Given the description of an element on the screen output the (x, y) to click on. 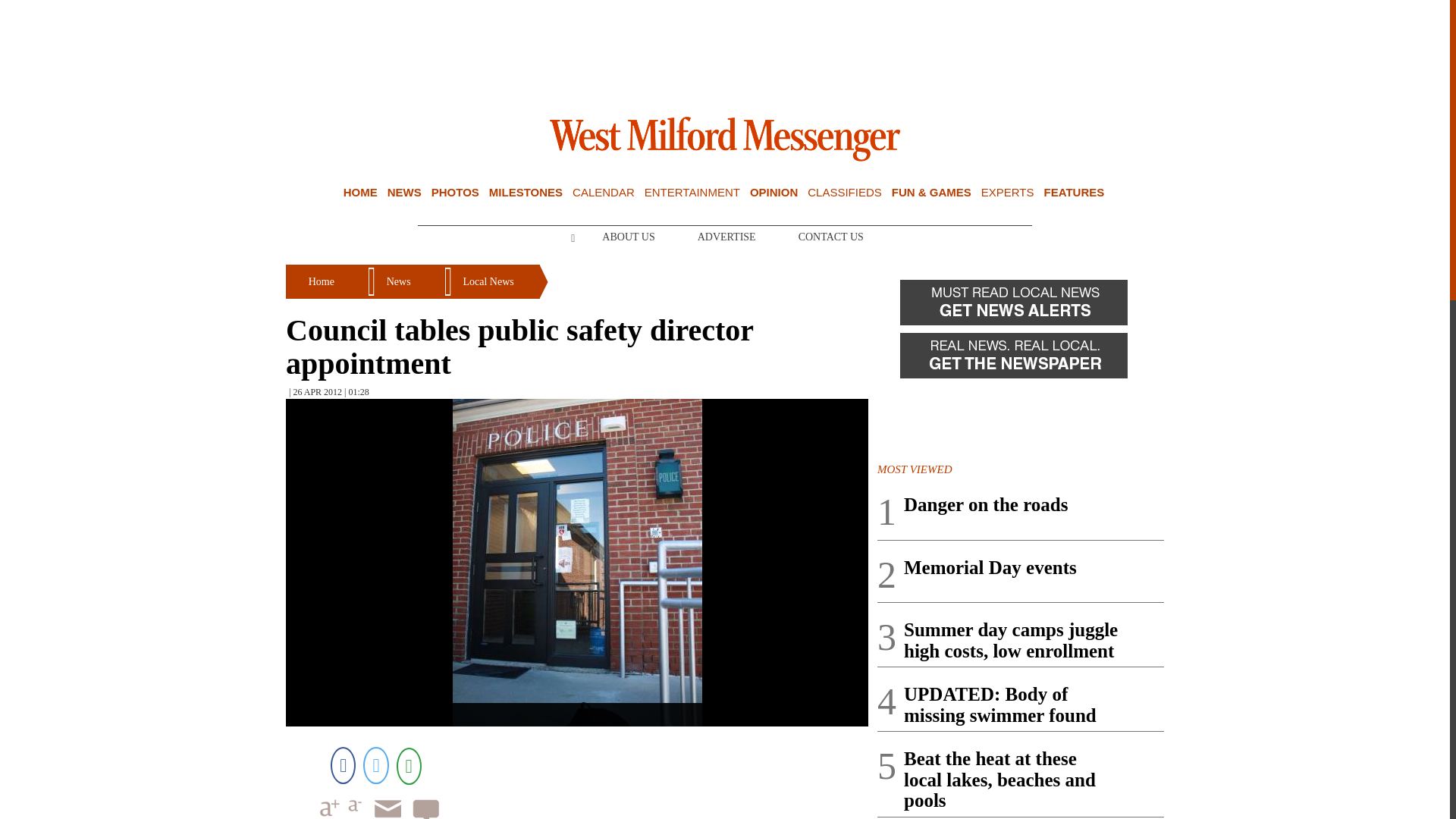
3rd party ad content (724, 49)
ENTERTAINMENT (692, 192)
PHOTOS (454, 192)
MILESTONES (525, 192)
OPINION (773, 192)
HOME (360, 192)
EXPERTS (1007, 192)
NEWS (404, 192)
FEATURES (1074, 192)
CALENDAR (603, 192)
CLASSIFIEDS (845, 192)
